Given the description of an element on the screen output the (x, y) to click on. 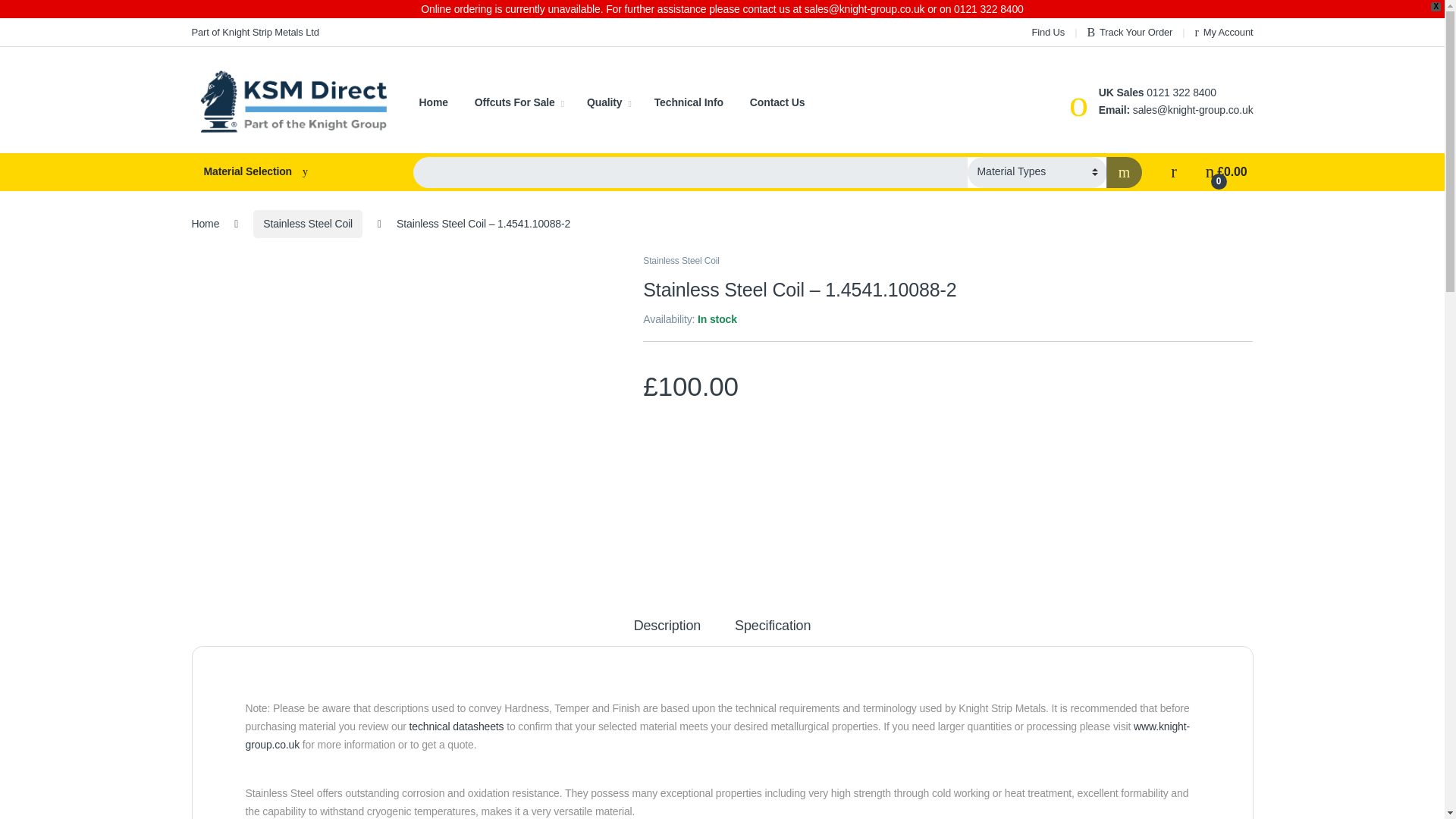
Find Us (1047, 31)
Offcuts For Sale (519, 102)
Track Your Order (1129, 31)
Part of Knight Strip Metals Ltd (254, 31)
Find Us (1047, 31)
Quality (608, 102)
My Account (1224, 31)
My Account (1224, 31)
Part of Knight Strip Metals Ltd (254, 31)
Track Your Order (1129, 31)
